Given the description of an element on the screen output the (x, y) to click on. 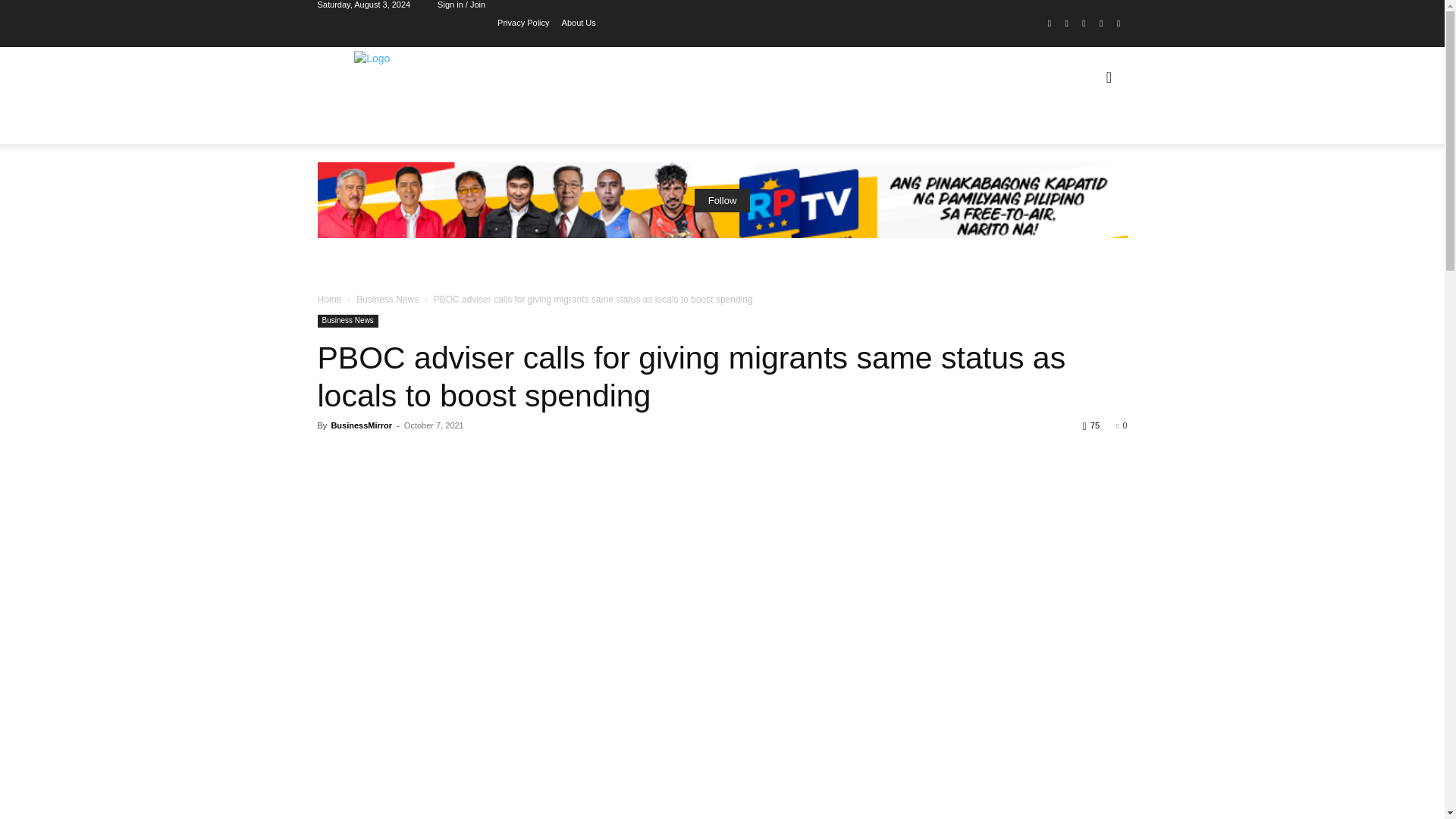
Youtube (1117, 23)
About Us (578, 22)
Instagram (1066, 23)
Twitter (1101, 23)
Privacy Policy (522, 22)
Facebook (1049, 23)
TikTok (1084, 23)
